Given the description of an element on the screen output the (x, y) to click on. 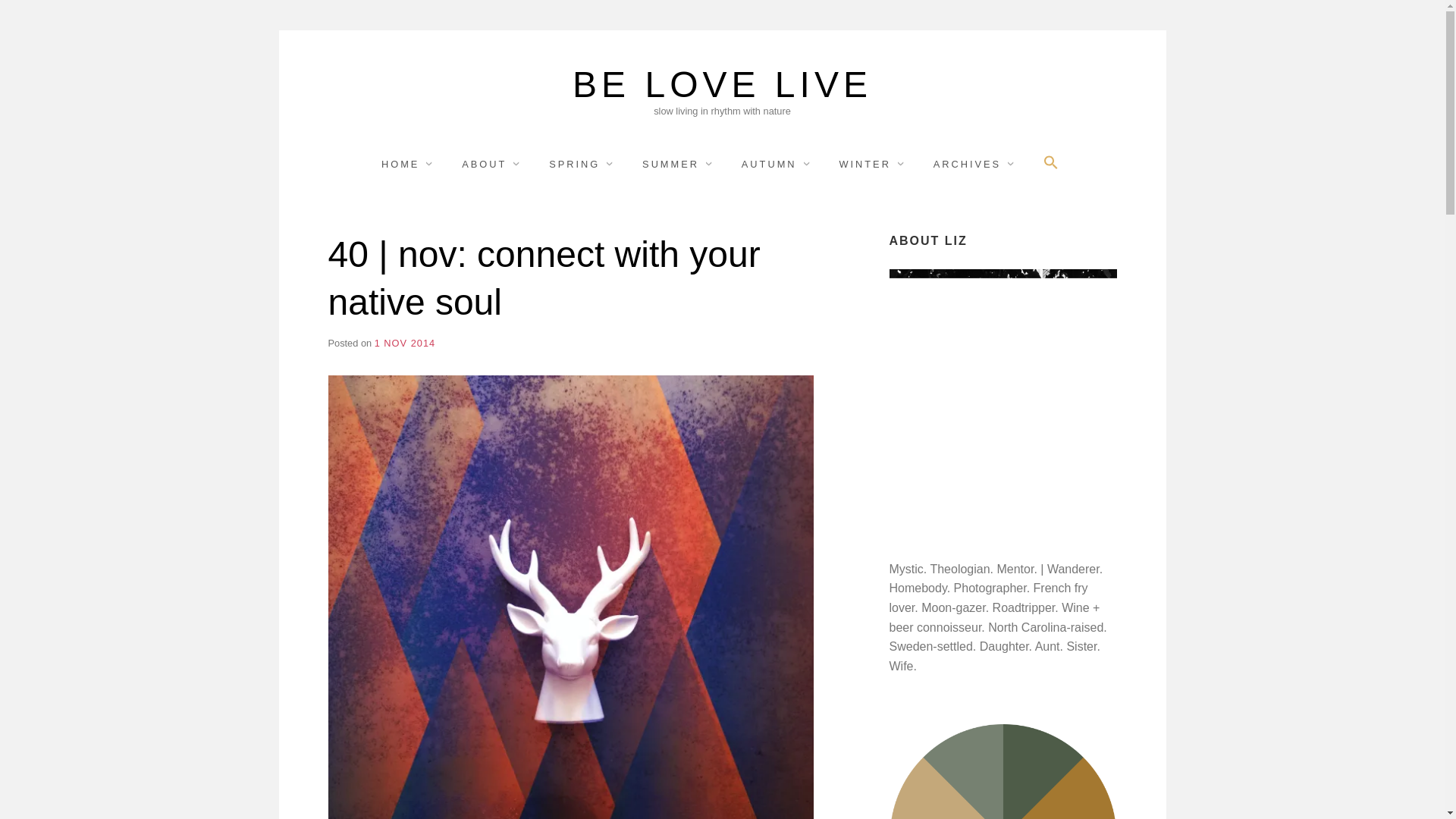
BE LOVE LIVE (722, 84)
HOME (408, 163)
SPRING (581, 163)
ABOUT (491, 163)
